Given the description of an element on the screen output the (x, y) to click on. 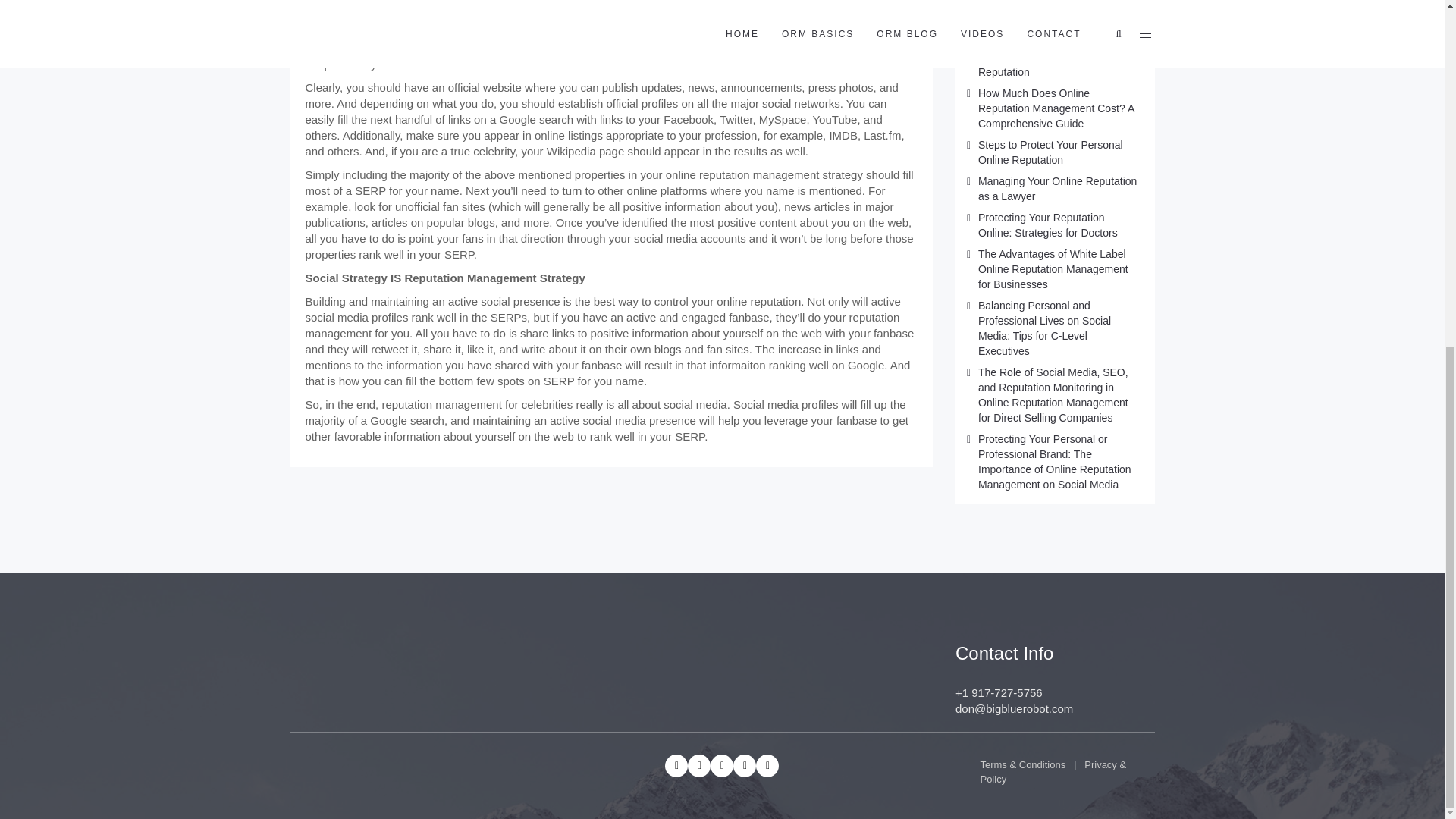
What is Online Reputation Management? (1040, 13)
Steps to Protect Your Personal Online Reputation (1050, 152)
Managing Your Online Reputation as a Lawyer (1057, 188)
Protecting Your Reputation Online: Strategies for Doctors (1048, 225)
